Given the description of an element on the screen output the (x, y) to click on. 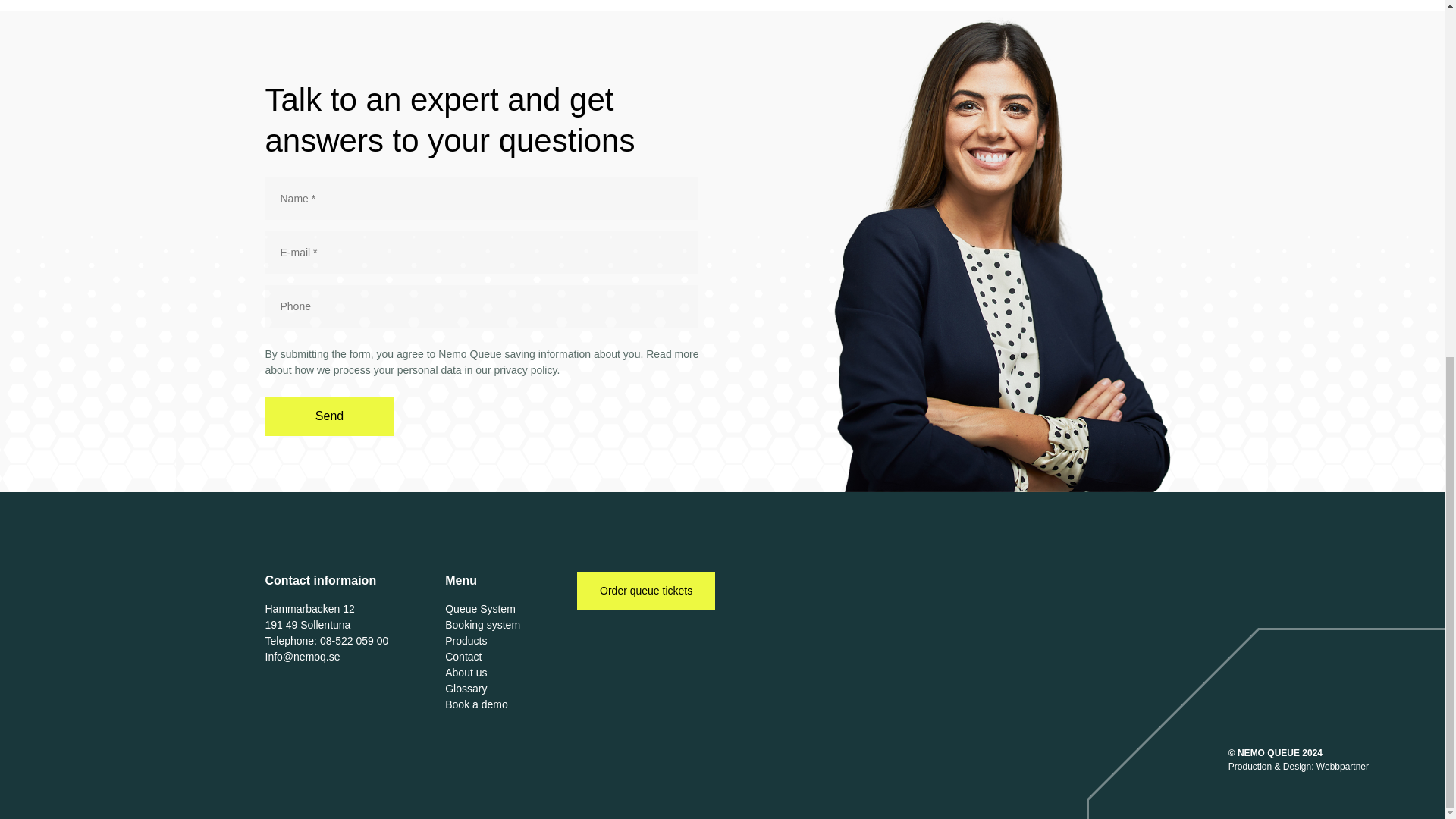
Send (329, 416)
Queue System (480, 608)
Order queue tickets (645, 590)
Contact (463, 656)
About us (465, 672)
Products (465, 640)
Glossary (465, 688)
Booking system (482, 624)
08-522 059 00 (354, 640)
Book a demo (476, 704)
Send (329, 416)
